Given the description of an element on the screen output the (x, y) to click on. 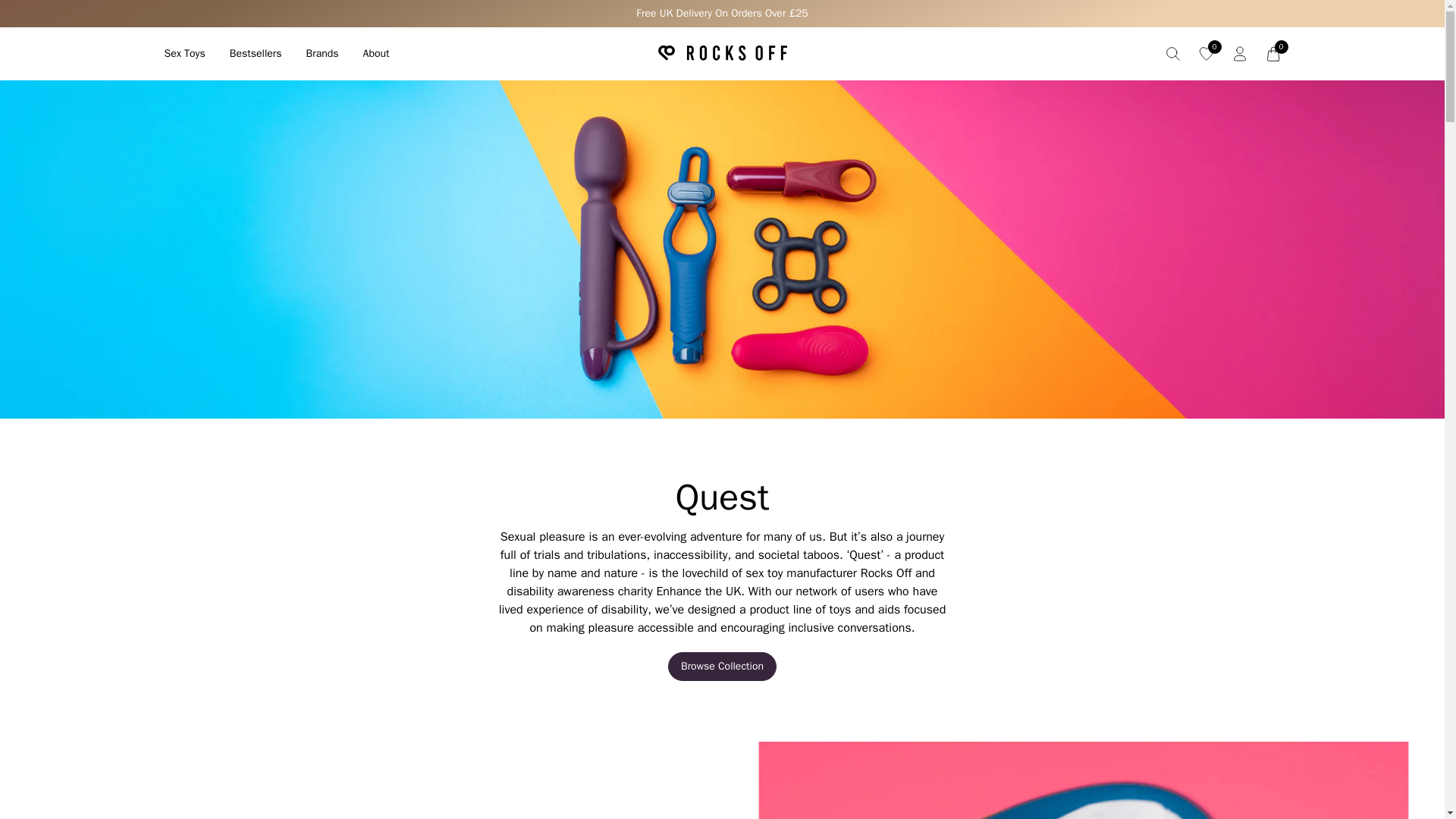
Account (1238, 53)
Rocks Off (722, 53)
Sex Toys (184, 52)
Bestsellers (256, 52)
About (376, 52)
0 (1272, 53)
Brands (322, 52)
0 (1205, 53)
